Given the description of an element on the screen output the (x, y) to click on. 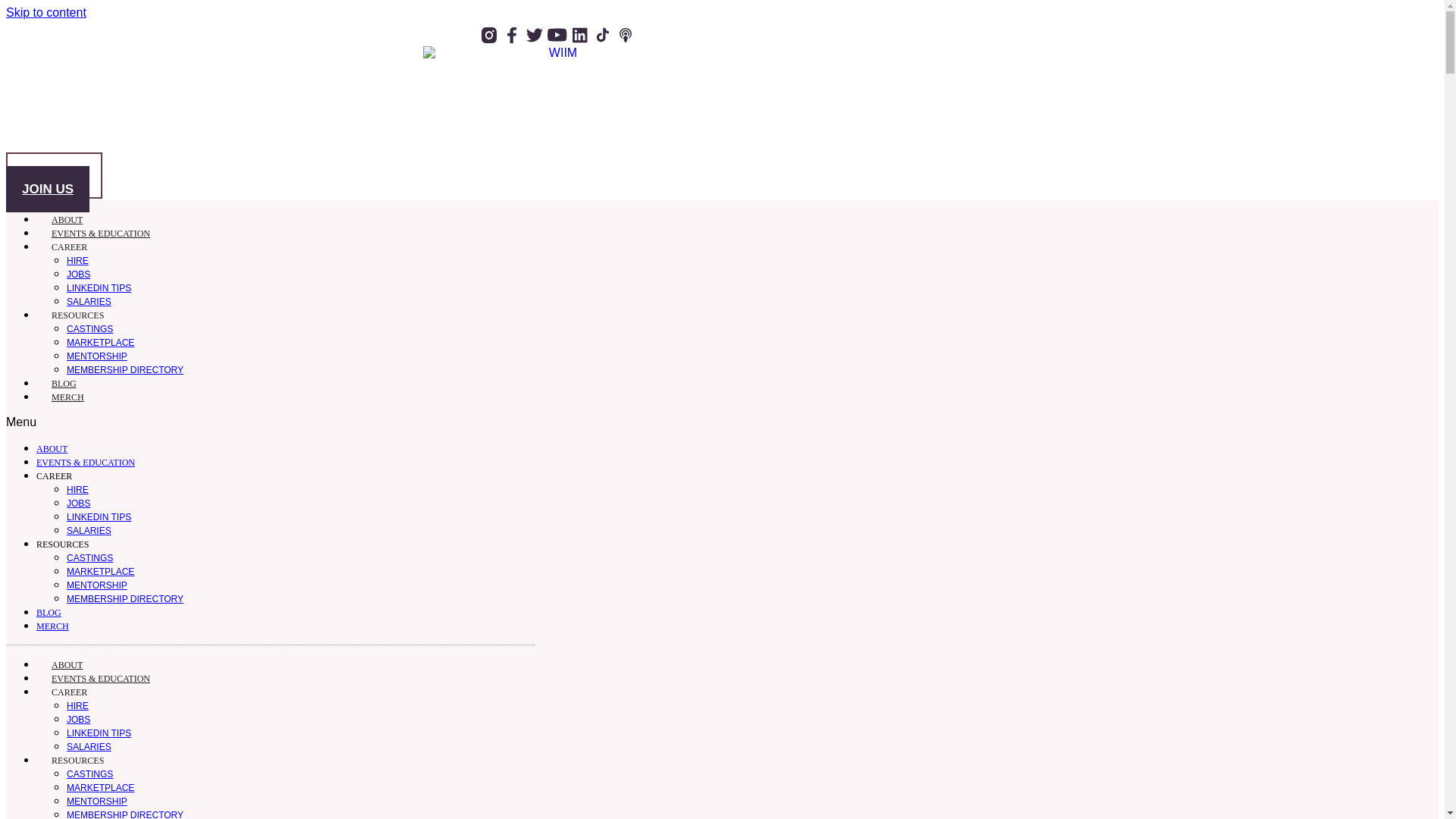
CASTINGS (89, 328)
HIRE (77, 260)
LINKEDIN TIPS (98, 516)
LINKEDIN TIPS (98, 287)
HIRE (77, 489)
CASTINGS (89, 557)
ABOUT (66, 664)
ACCOUNT (53, 175)
ABOUT (51, 448)
MARKETPLACE (99, 342)
